Given the description of an element on the screen output the (x, y) to click on. 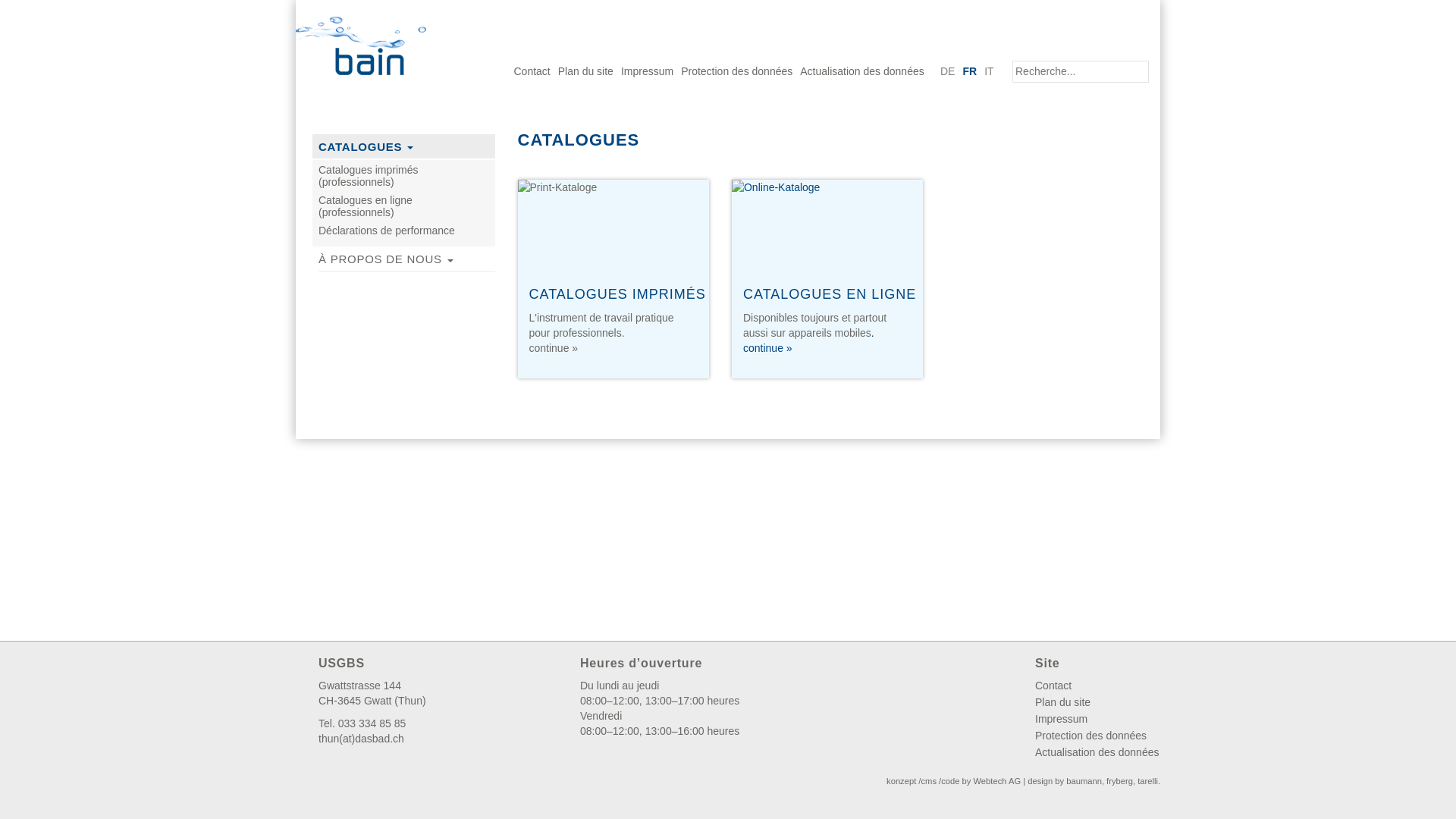
Recherche Element type: hover (1080, 71)
thun(at)dasbad.ch Element type: text (361, 738)
Impressum Element type: text (647, 70)
Contact Element type: text (531, 70)
Plan du site Element type: text (585, 70)
IT Element type: text (988, 70)
CATALOGUES  Element type: text (403, 146)
Catalogues en ligne (professionnels) Element type: text (403, 209)
DE Element type: text (947, 70)
Weiter zu Online-Kataloge Element type: hover (826, 225)
Plan du site Element type: text (1097, 701)
cms Element type: text (928, 780)
FR Element type: text (969, 70)
033 334 85 85 Element type: text (372, 723)
baumann, fryberg, tarelli. Element type: text (1113, 780)
konzept Element type: text (901, 780)
Contact Element type: text (1097, 685)
Webtech AG Element type: text (997, 780)
Impressum Element type: text (1097, 718)
code Element type: text (950, 780)
bain - USGBS - Home Element type: hover (373, 40)
